Given the description of an element on the screen output the (x, y) to click on. 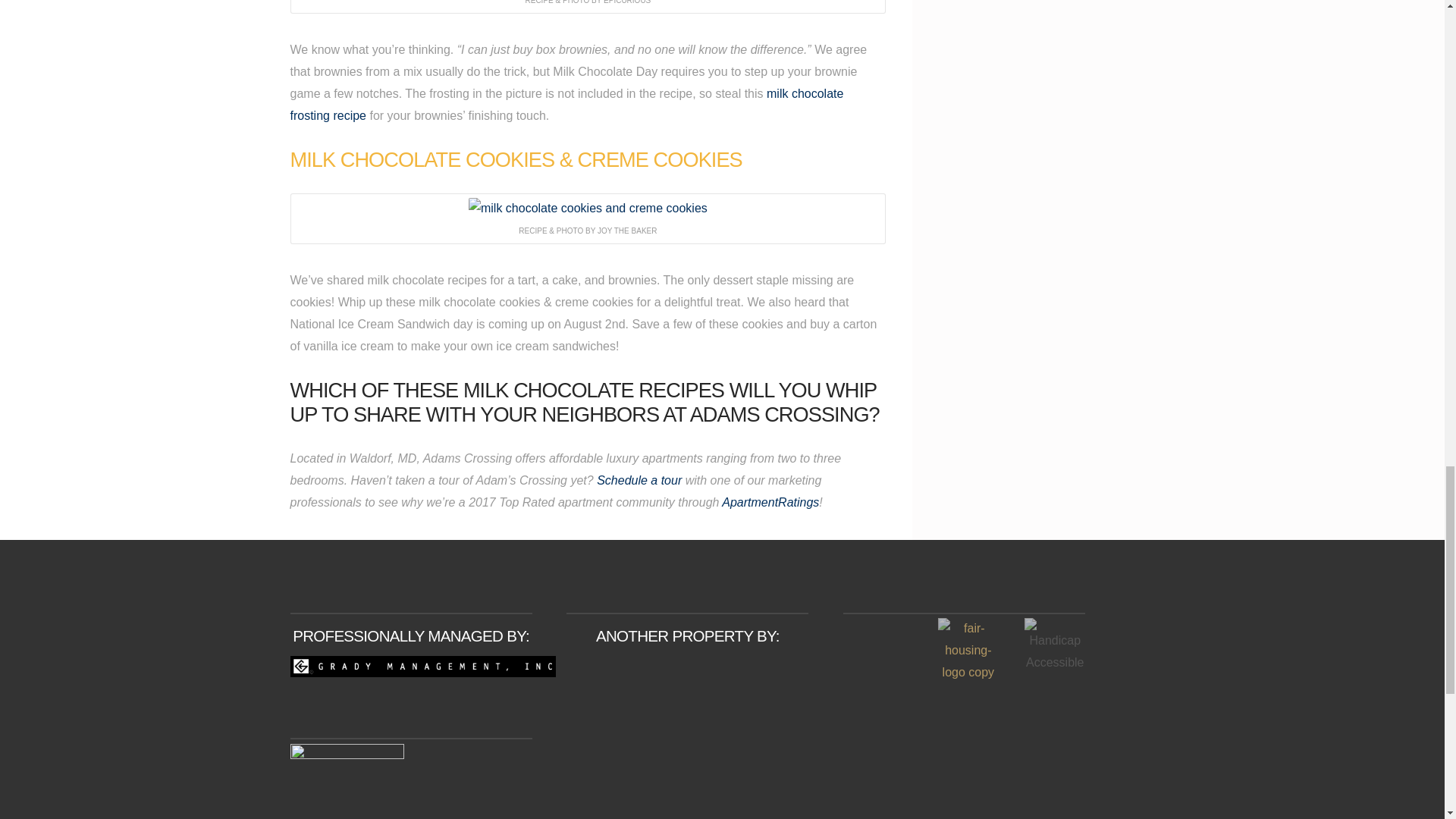
Schedule a tour (640, 480)
milk chocolate frosting recipe (566, 104)
ApartmentRatings (770, 502)
